Given the description of an element on the screen output the (x, y) to click on. 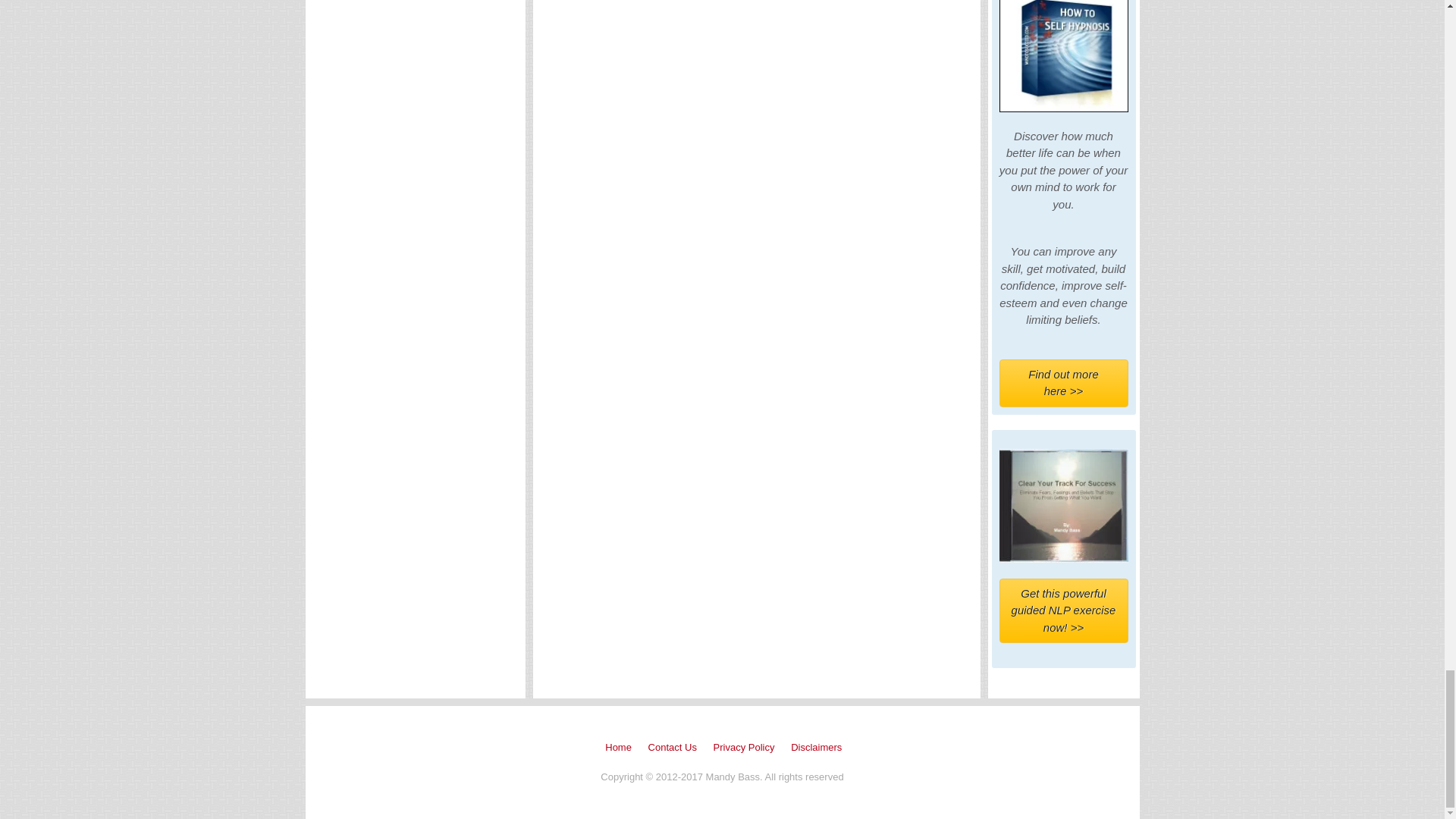
self hypnosis (1063, 56)
clear your track (1063, 505)
